Given the description of an element on the screen output the (x, y) to click on. 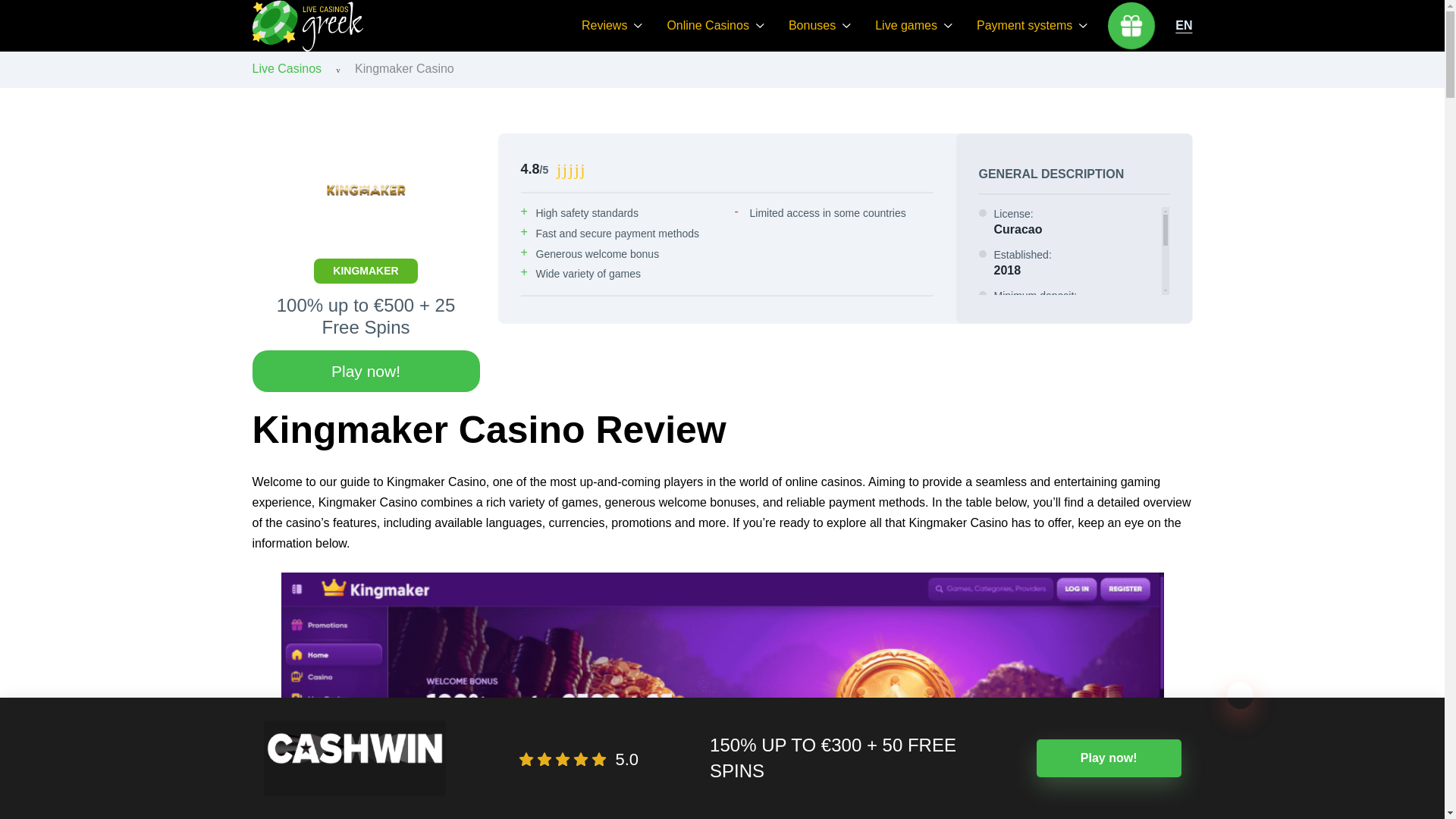
Bonuses (819, 25)
Live Casinos (286, 68)
Kingmaker Casino (404, 68)
Reviews (611, 25)
Online Casinos (715, 25)
